Given the description of an element on the screen output the (x, y) to click on. 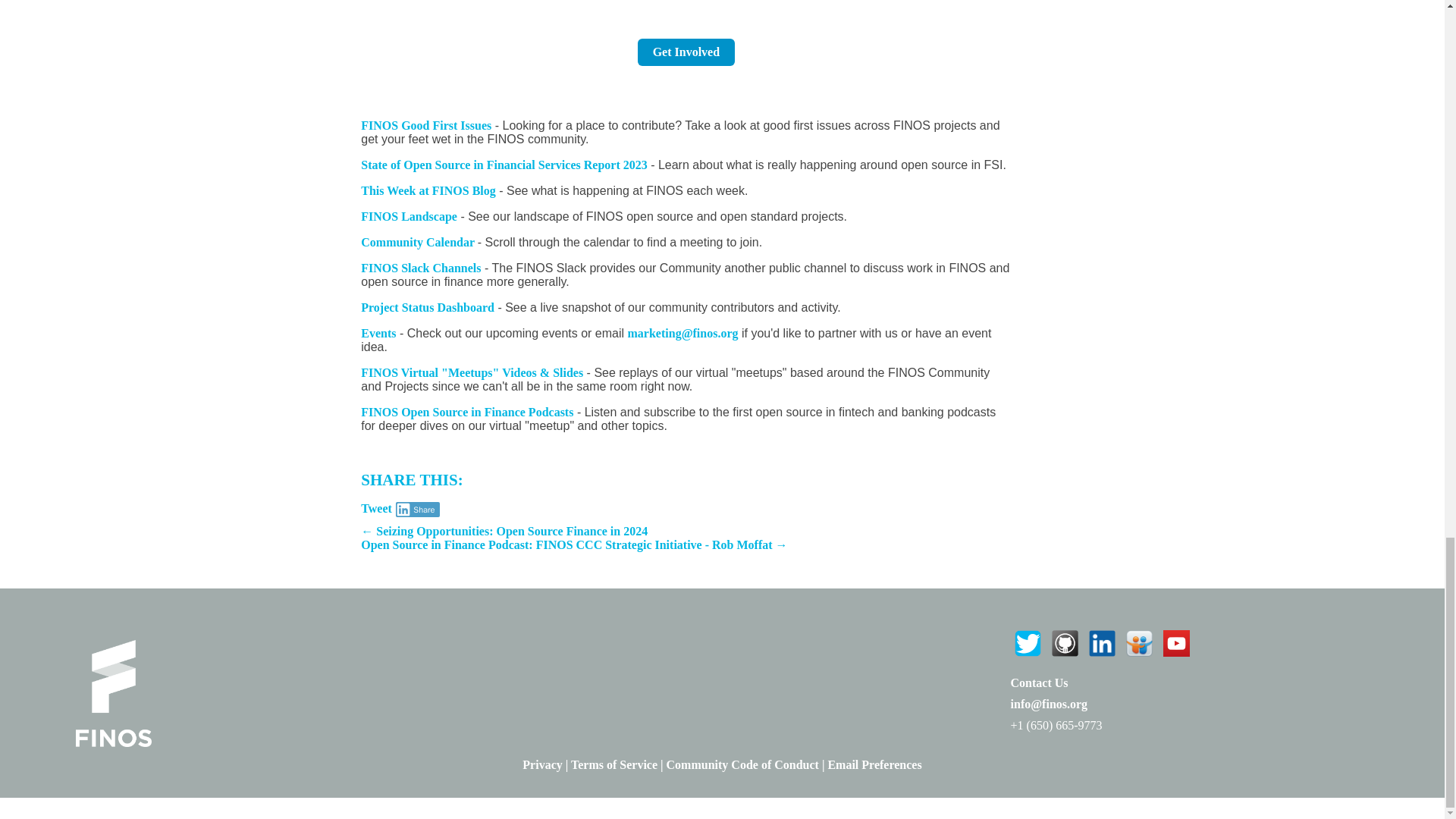
Get Involved (686, 52)
